Given the description of an element on the screen output the (x, y) to click on. 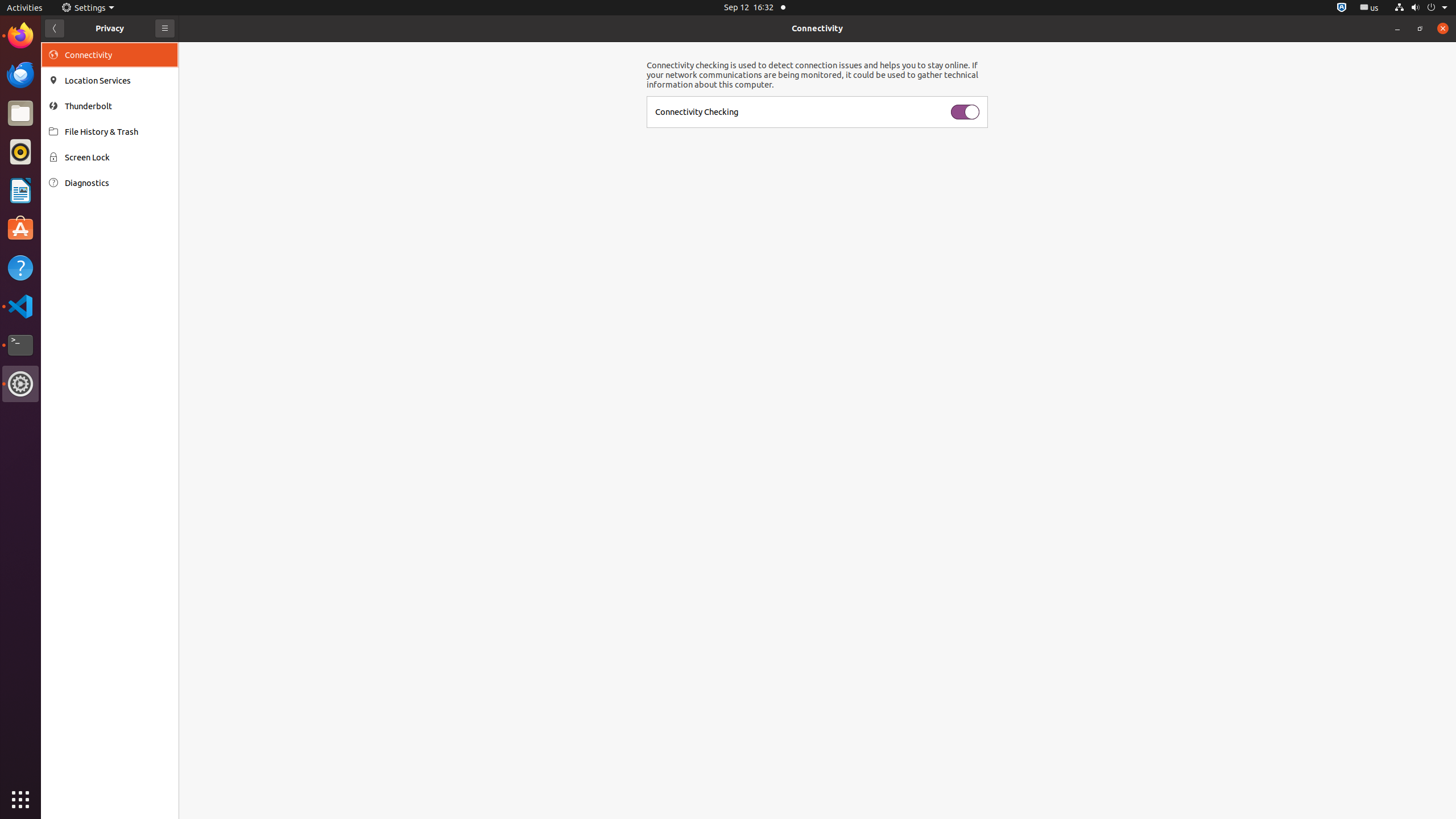
Activities Element type: label (24, 7)
Connectivity checking is used to detect connection issues and helps you to stay online. If your network communications are being monitored, it could be used to gather technical information about this computer. Element type: label (816, 74)
Screen Lock Element type: label (117, 157)
Connectivity Element type: label (816, 27)
Trash Element type: label (75, 108)
